Given the description of an element on the screen output the (x, y) to click on. 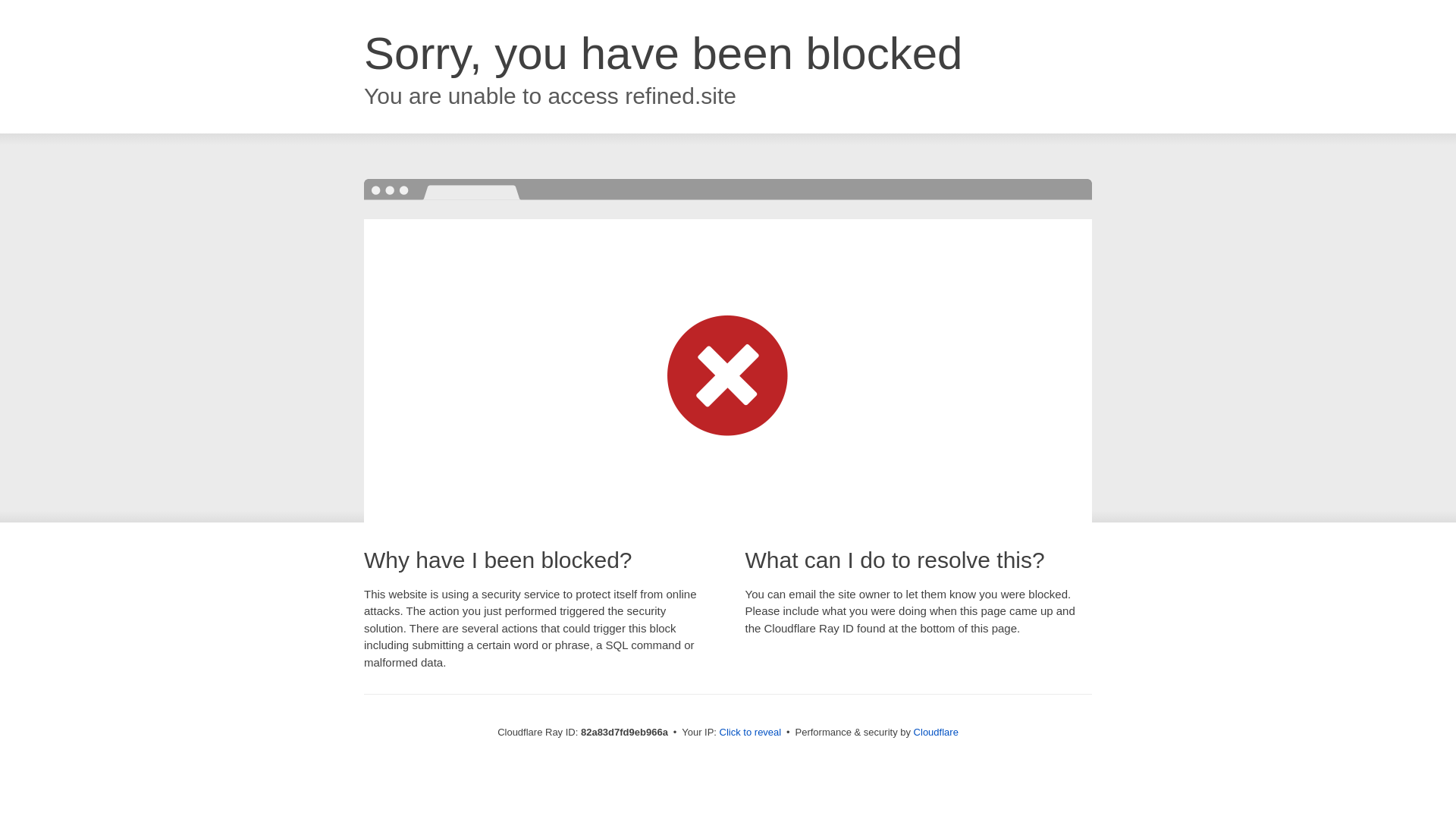
Click to reveal Element type: text (750, 732)
Cloudflare Element type: text (935, 731)
